Given the description of an element on the screen output the (x, y) to click on. 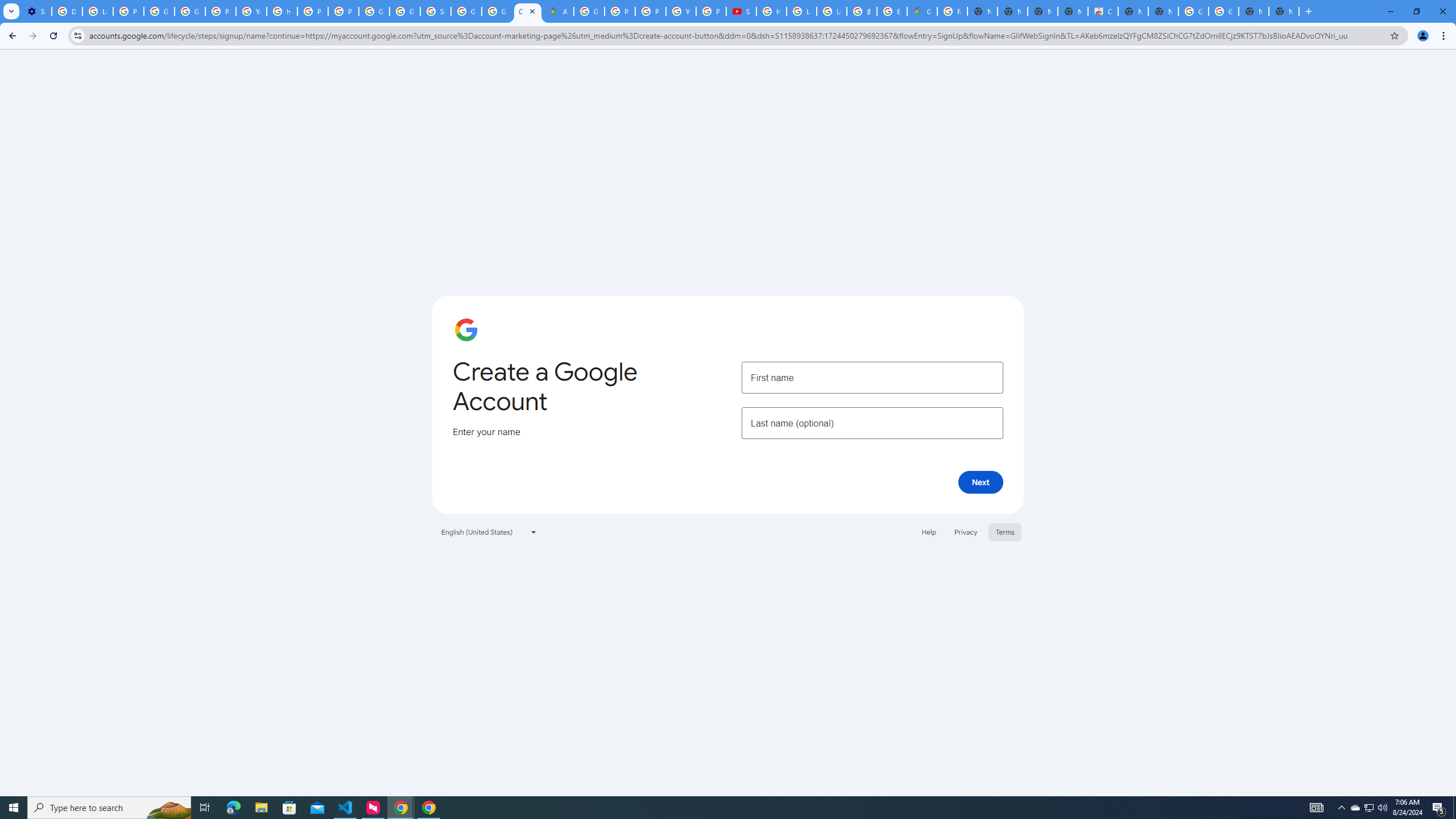
English (United States) (489, 531)
YouTube (251, 11)
First name (871, 376)
Privacy Help Center - Policies Help (619, 11)
